Given the description of an element on the screen output the (x, y) to click on. 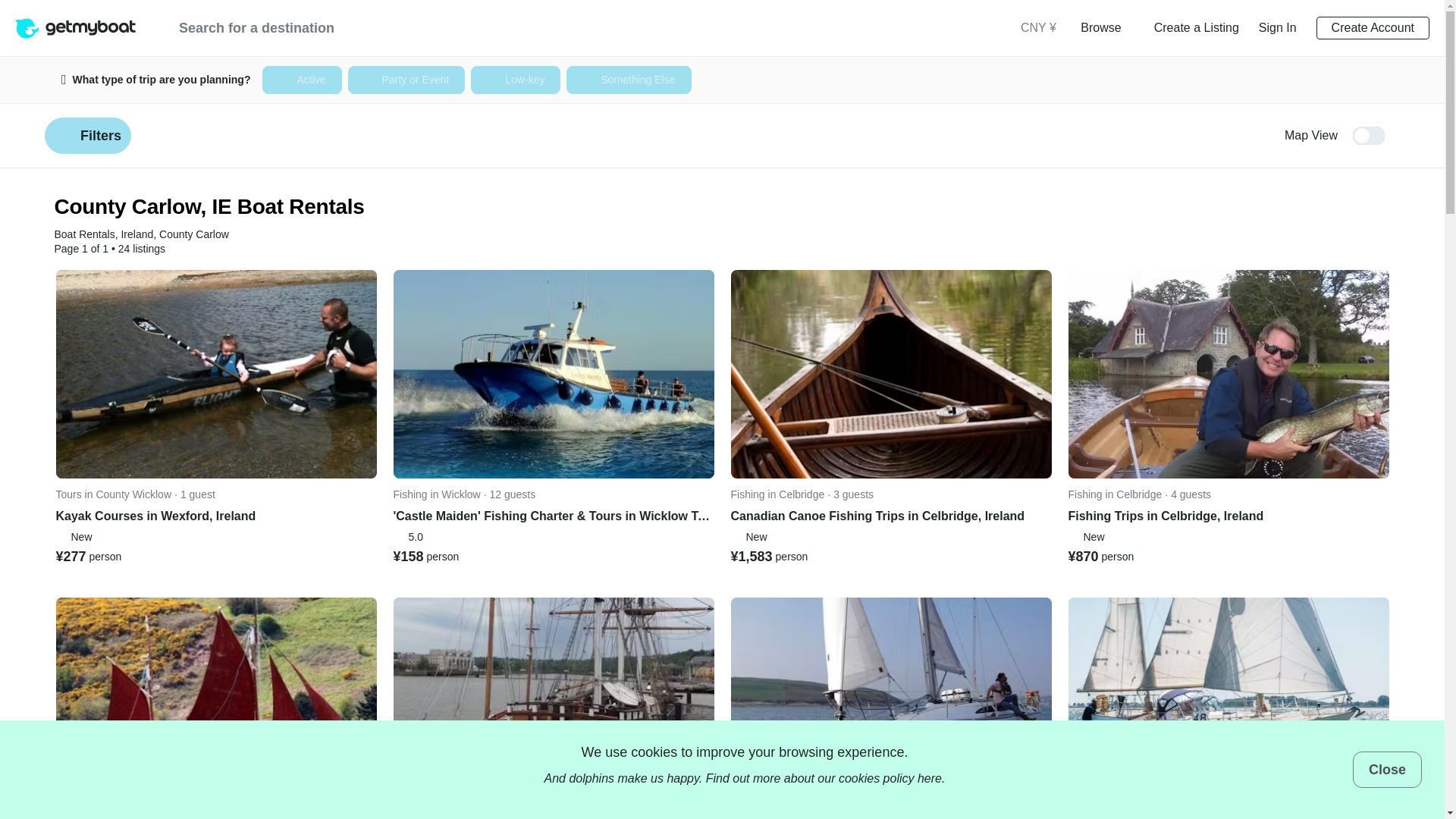
cookies policy here (890, 778)
Create Account (1372, 27)
Ireland (136, 234)
Filters (88, 135)
Boat Rentals (85, 234)
Active (301, 80)
Party or Event (406, 80)
Something Else (628, 80)
Browse (1106, 26)
Sign In (1278, 27)
Close (1387, 769)
County Carlow (193, 234)
Create a Listing (1196, 27)
Low-key (515, 80)
